Given the description of an element on the screen output the (x, y) to click on. 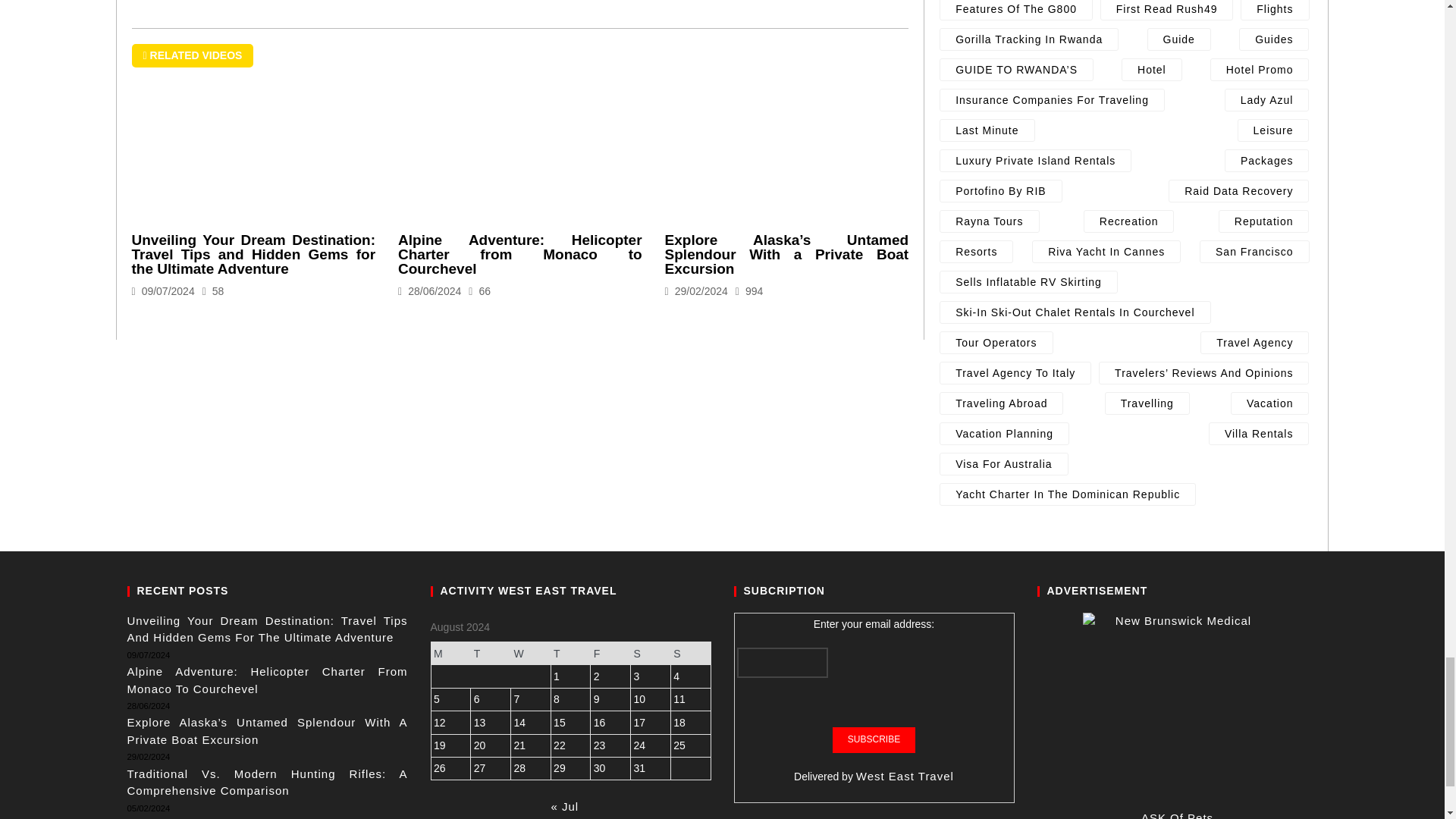
Visits (479, 291)
Subscribe (873, 739)
Visits (213, 291)
